Given the description of an element on the screen output the (x, y) to click on. 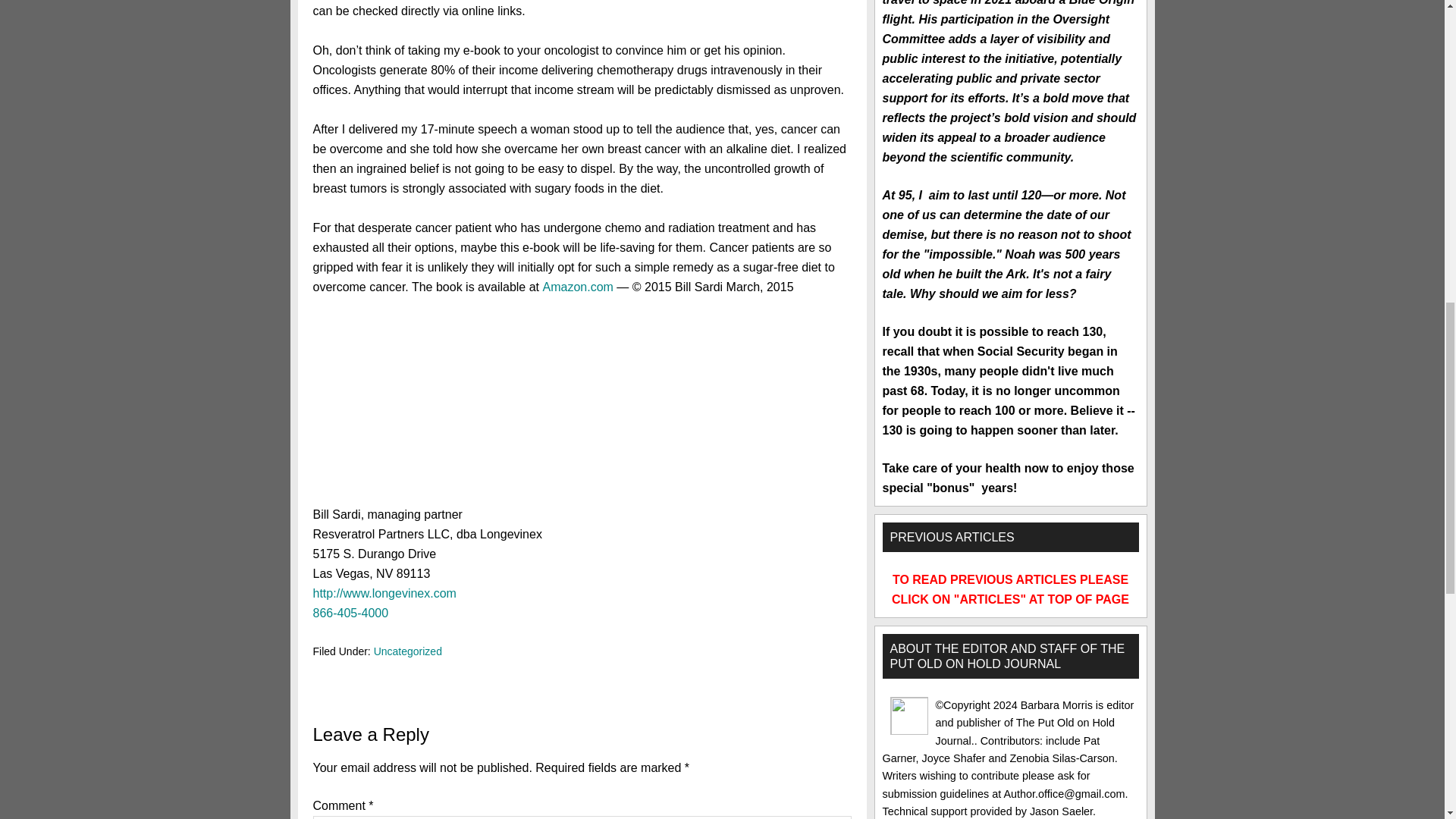
Uncategorized (408, 651)
Amazon.com (576, 286)
866-405-4000 (350, 612)
